Given the description of an element on the screen output the (x, y) to click on. 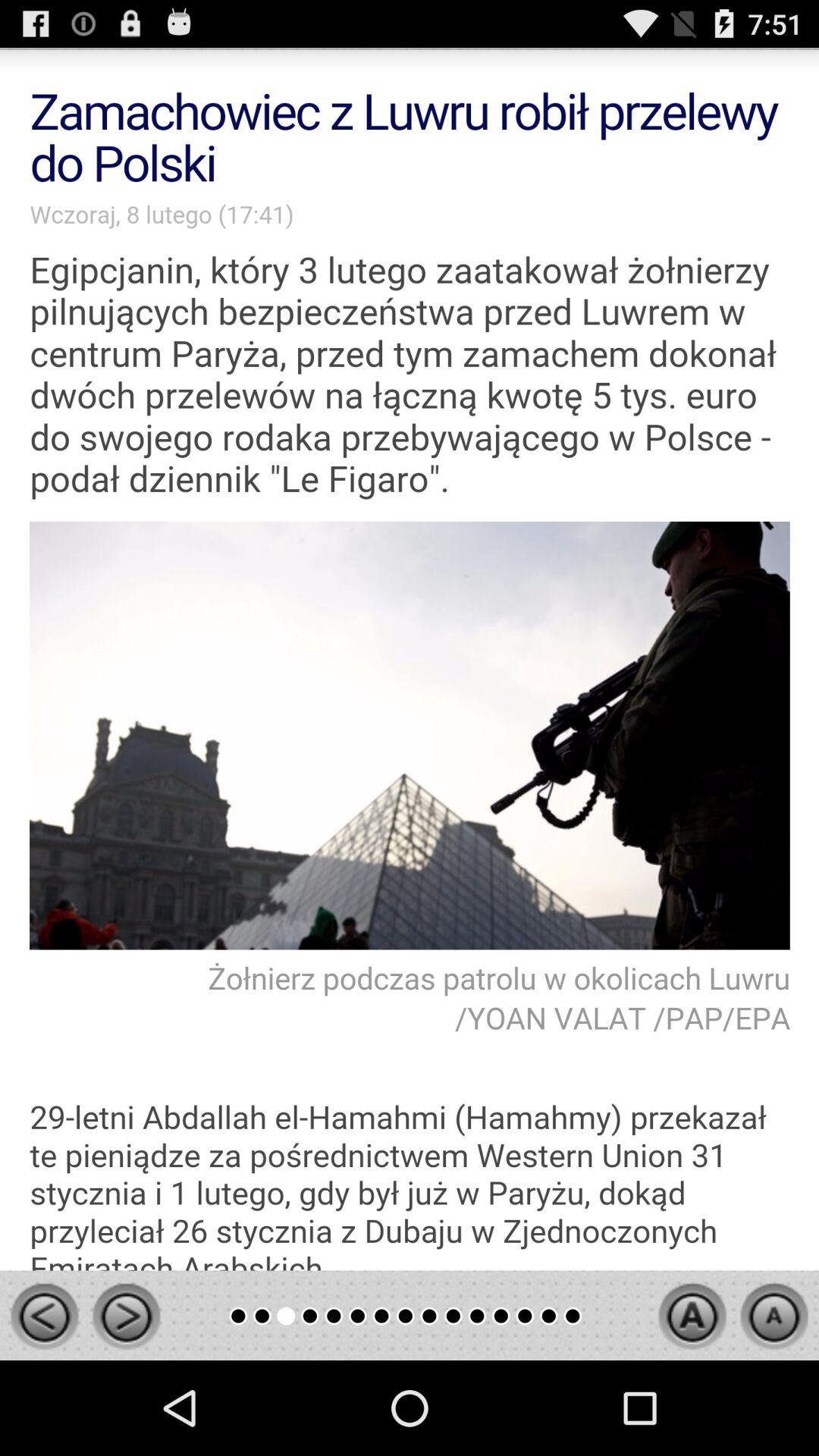
go back (43, 1316)
